Given the description of an element on the screen output the (x, y) to click on. 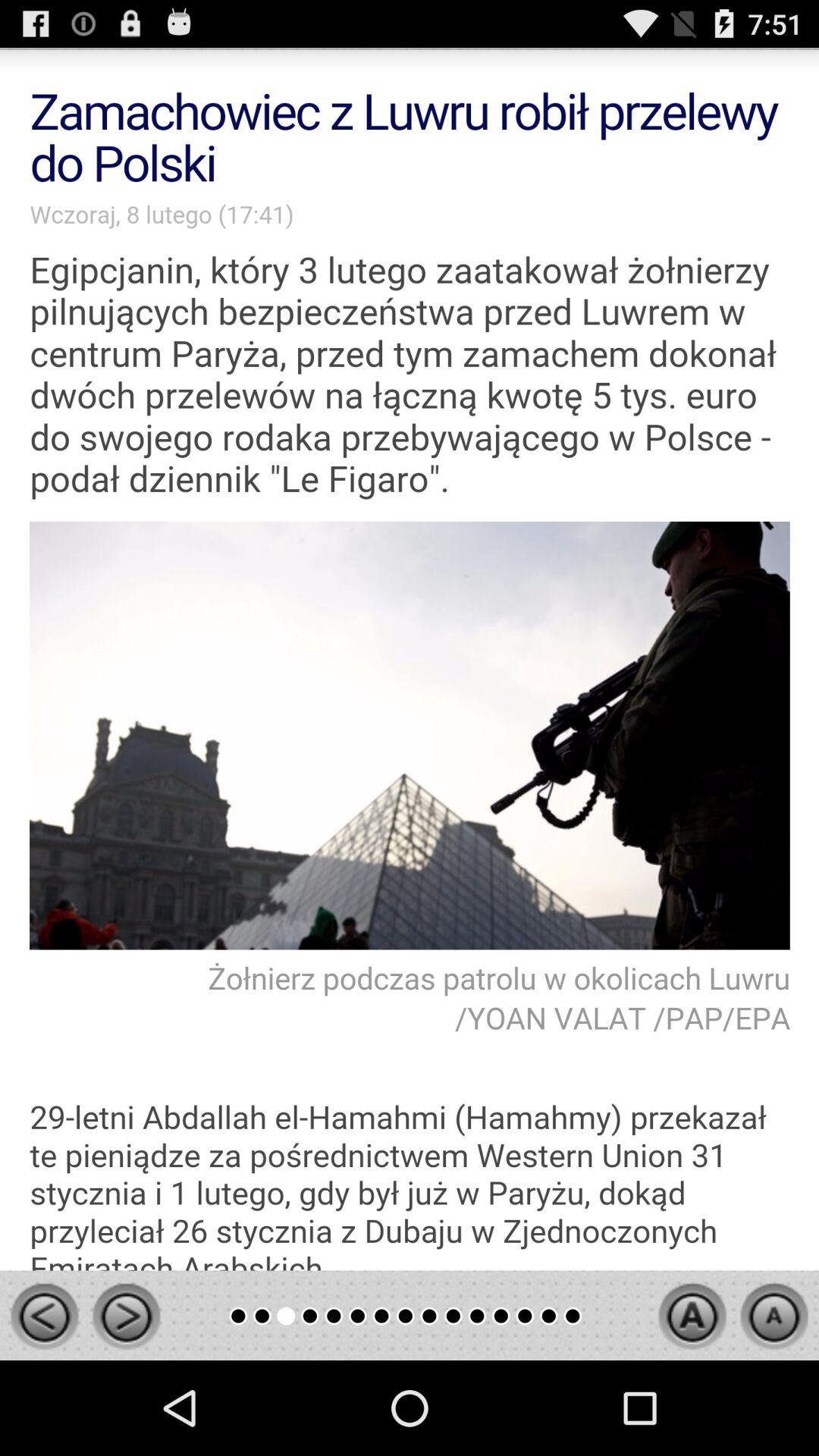
go back (43, 1316)
